Given the description of an element on the screen output the (x, y) to click on. 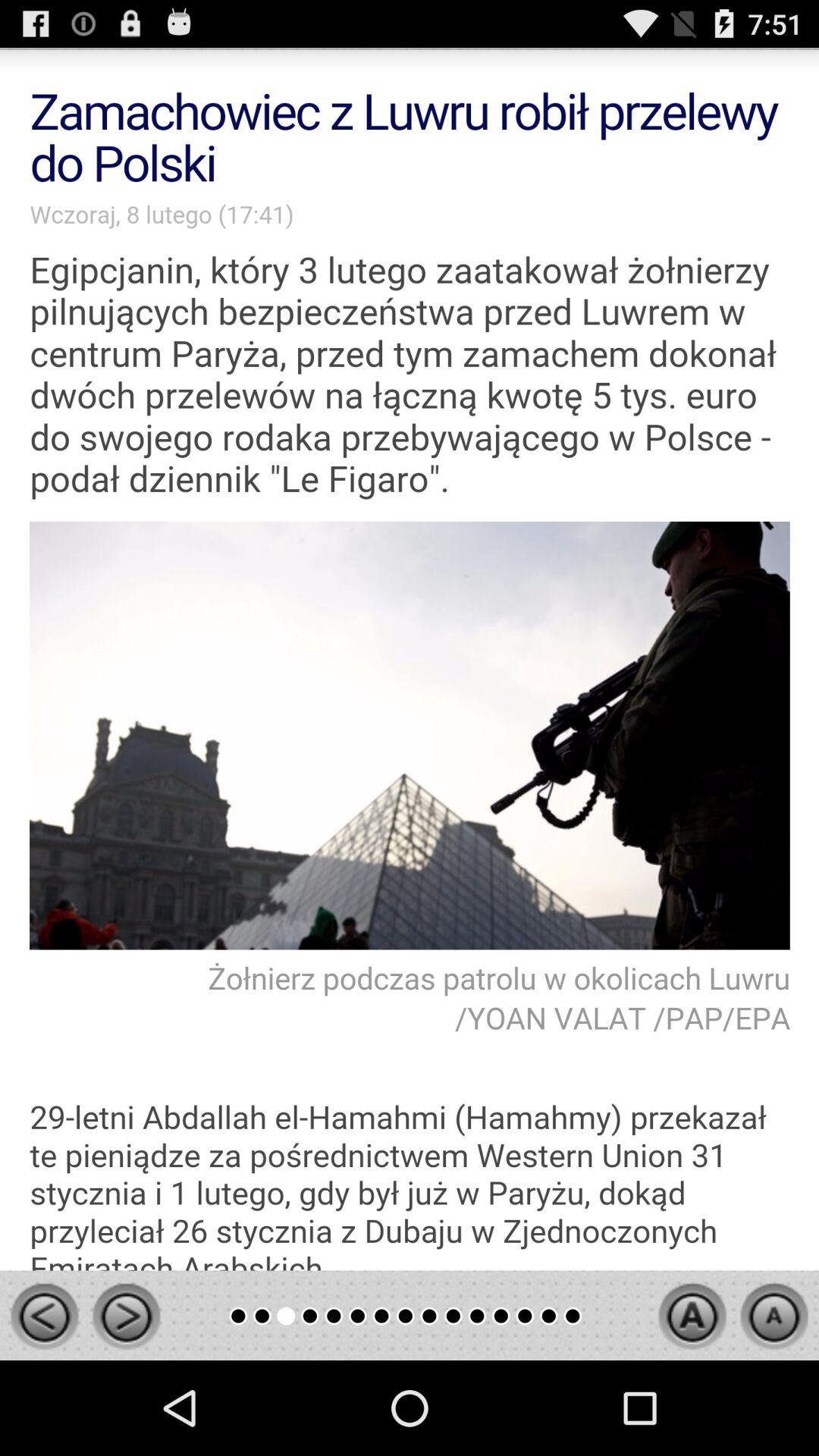
go back (43, 1316)
